Given the description of an element on the screen output the (x, y) to click on. 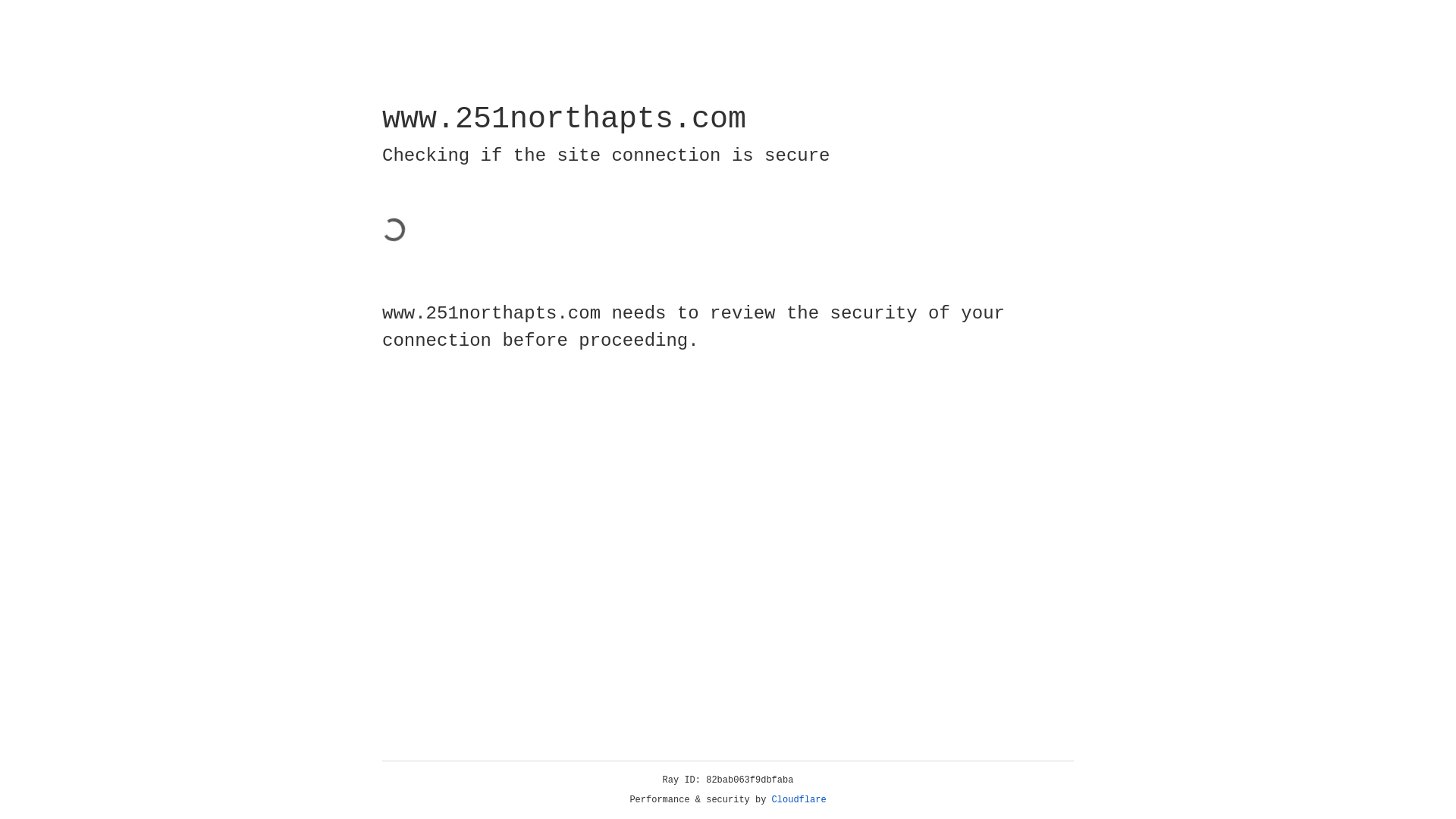
Cloudflare Element type: text (798, 799)
